Given the description of an element on the screen output the (x, y) to click on. 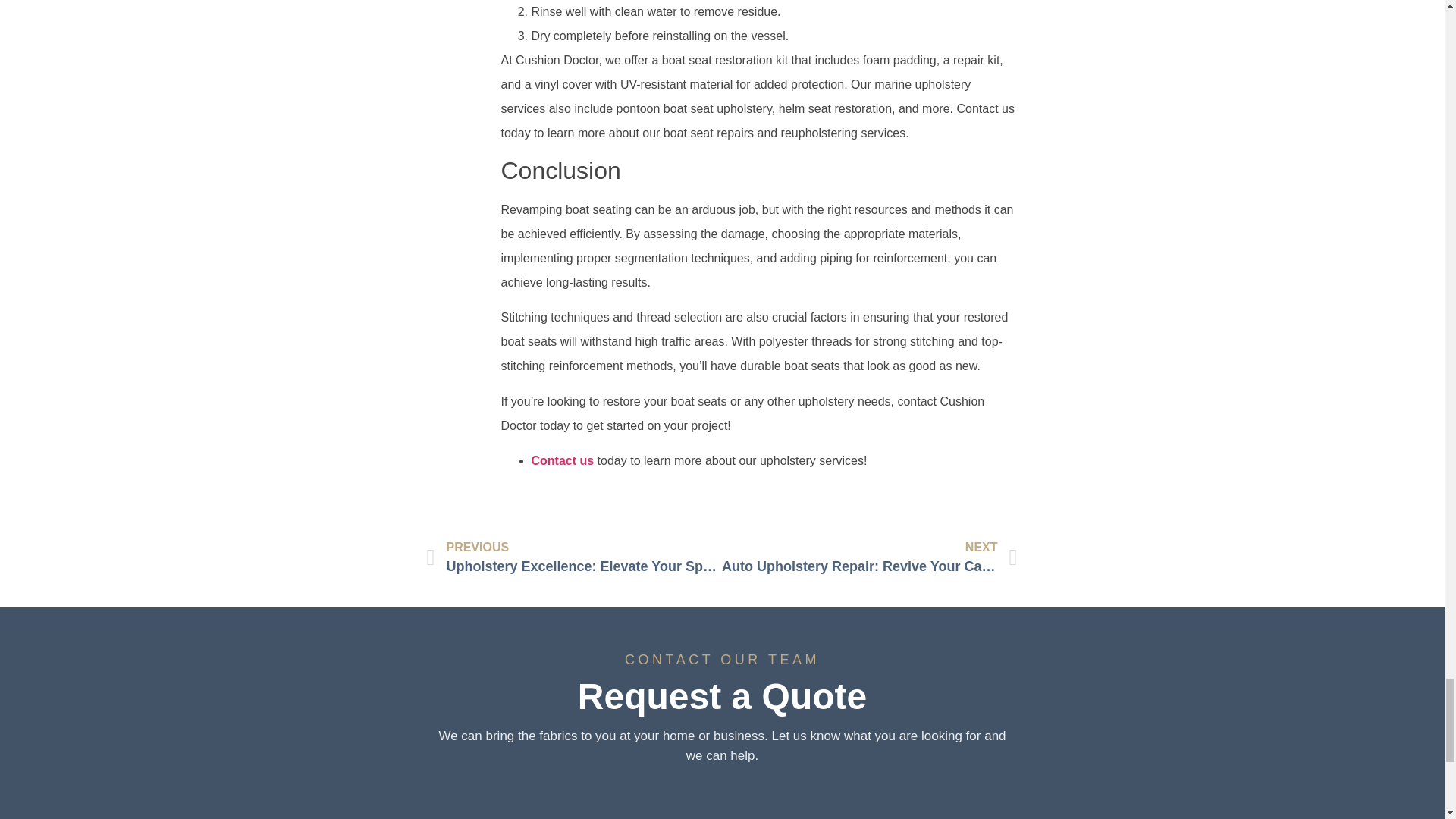
Contact us (562, 460)
Cushiondoctor.com Form (722, 800)
